Given the description of an element on the screen output the (x, y) to click on. 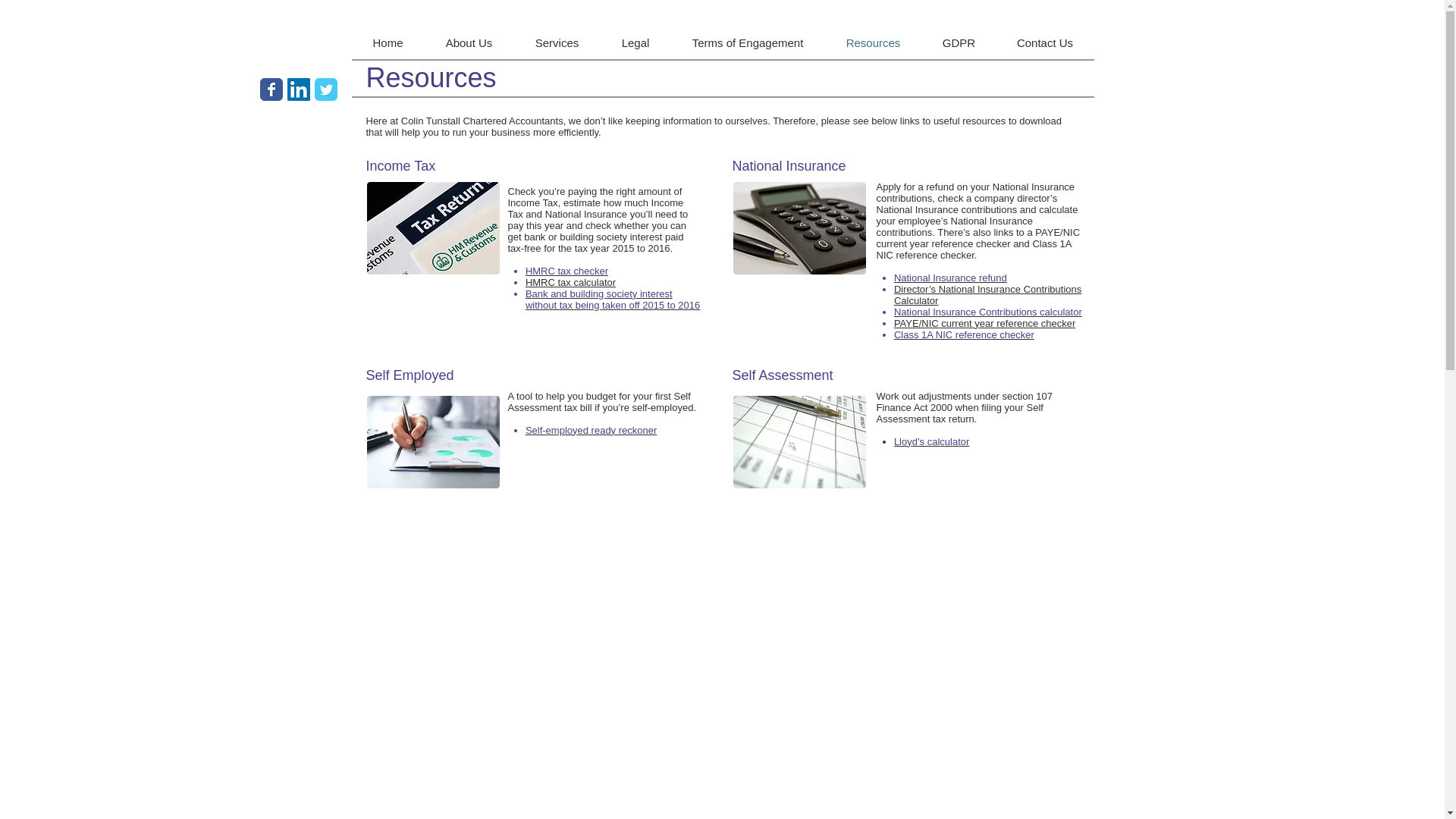
Self-employed ready reckoner (590, 430)
Analysing the Numbers (432, 441)
Sheet.jpg (799, 441)
GDPR (958, 42)
Calc 1.jpg (799, 227)
HMRC.jpg (432, 227)
Home (388, 42)
Terms of Engagement (746, 42)
Resources (873, 42)
About Us (469, 42)
